Given the description of an element on the screen output the (x, y) to click on. 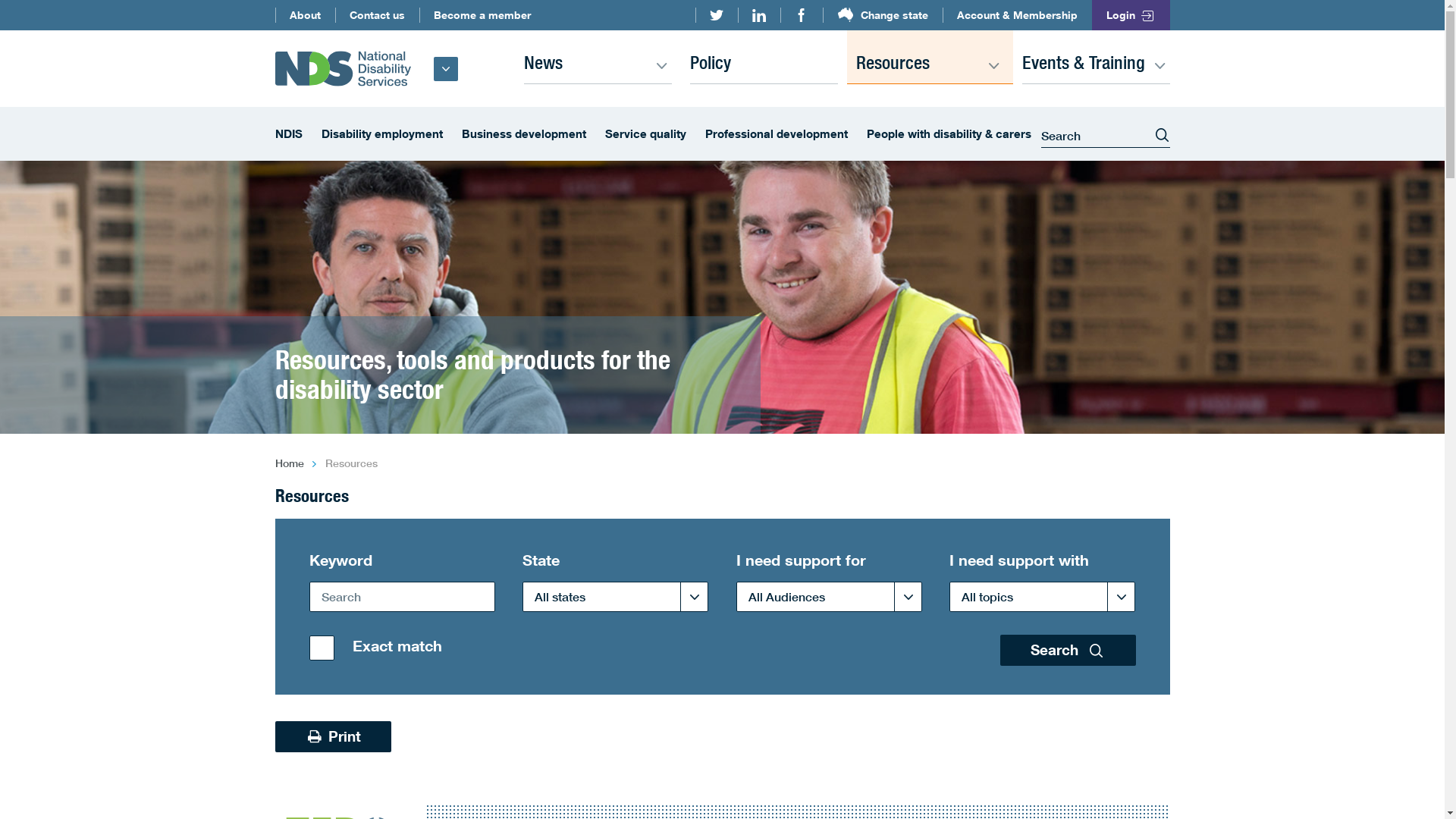
About Element type: text (304, 15)
Business development Element type: text (523, 134)
National Disability Services Element type: text (342, 68)
Search Element type: text (1067, 649)
Policy Element type: text (763, 56)
Contact us Element type: text (377, 15)
Events & Training Element type: text (1096, 56)
Become a member Element type: text (481, 15)
Professional development Element type: text (776, 134)
Service quality Element type: text (645, 134)
Facebook Element type: text (801, 15)
Home Element type: text (288, 463)
Global Menu Element type: text (445, 68)
Login Element type: text (1131, 15)
Twitter Element type: text (716, 15)
Resources Element type: text (929, 56)
LinkedIn Element type: text (758, 15)
Change state Element type: text (882, 15)
News Element type: text (597, 56)
Skip to main content (Press enter) Element type: text (0, 11)
NDIS Element type: text (287, 134)
Account & Membership Element type: text (1017, 15)
Disability employment Element type: text (381, 134)
People with disability & carers Element type: text (948, 134)
Print Element type: text (332, 736)
